Given the description of an element on the screen output the (x, y) to click on. 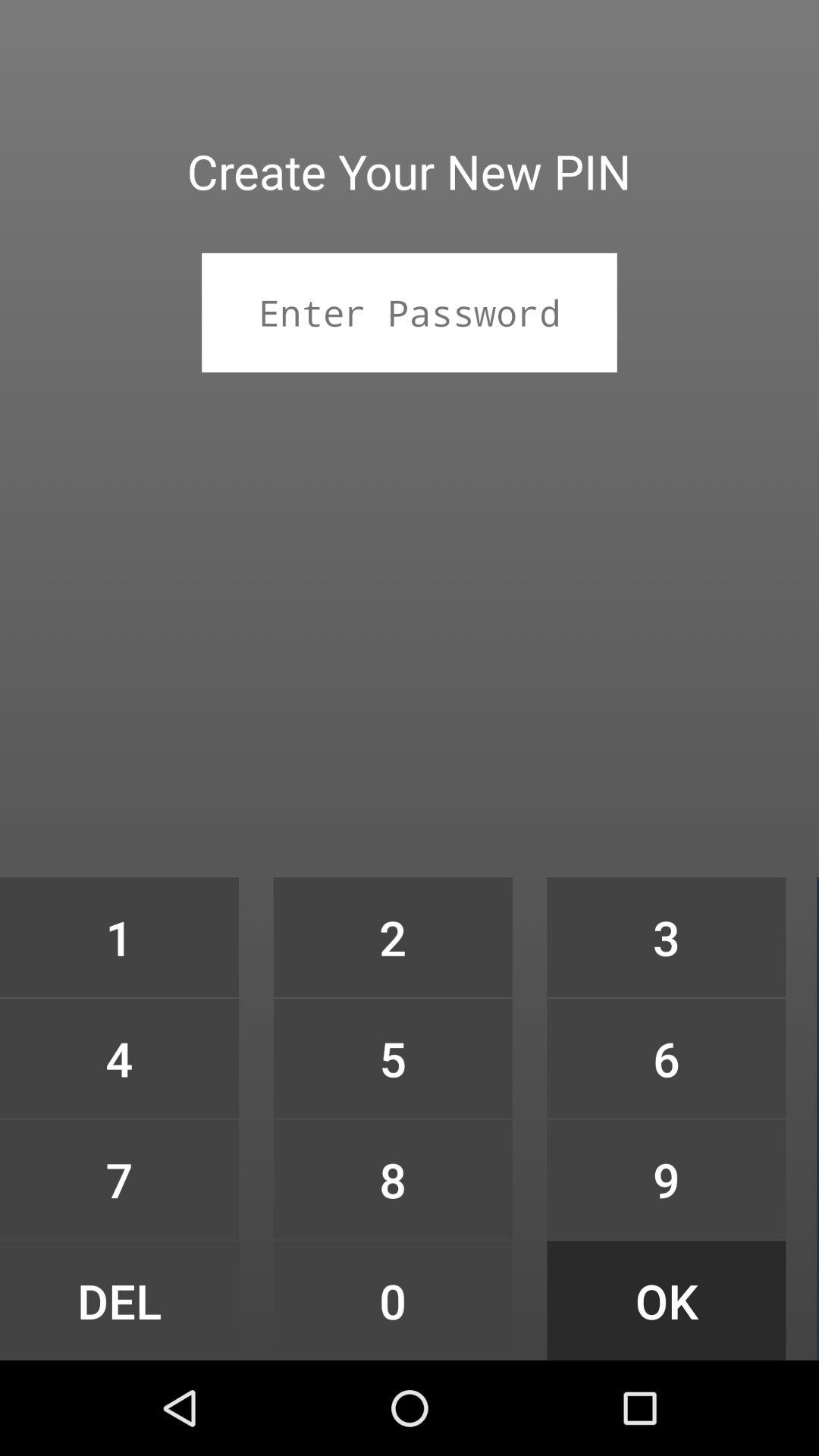
select the icon below the 7 item (119, 1300)
